Given the description of an element on the screen output the (x, y) to click on. 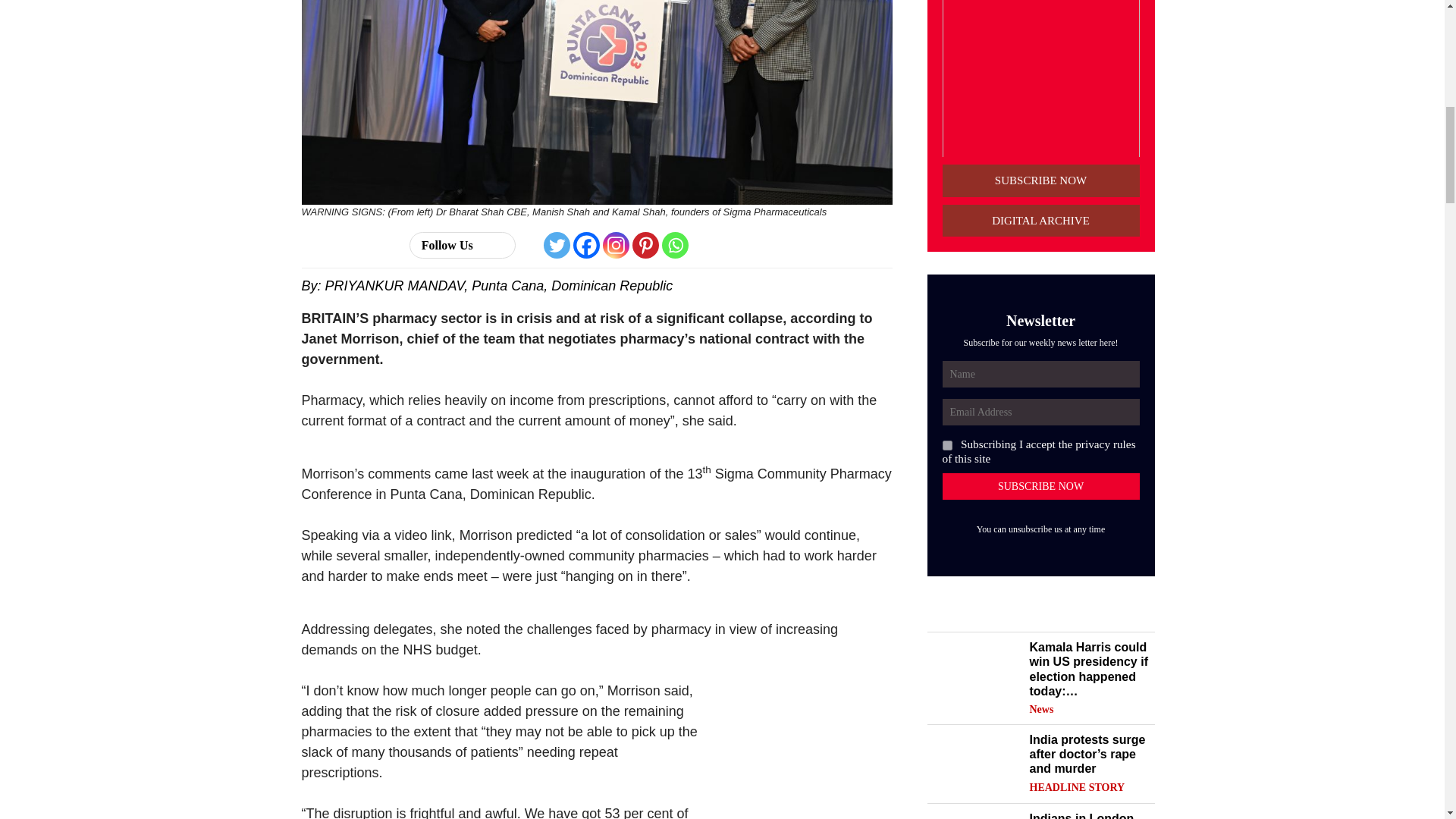
Facebook (586, 244)
Subscribe Now (1040, 486)
Instagram (615, 244)
Pinterest (645, 244)
Twitter (556, 244)
on (947, 445)
Whatsapp (675, 244)
